Given the description of an element on the screen output the (x, y) to click on. 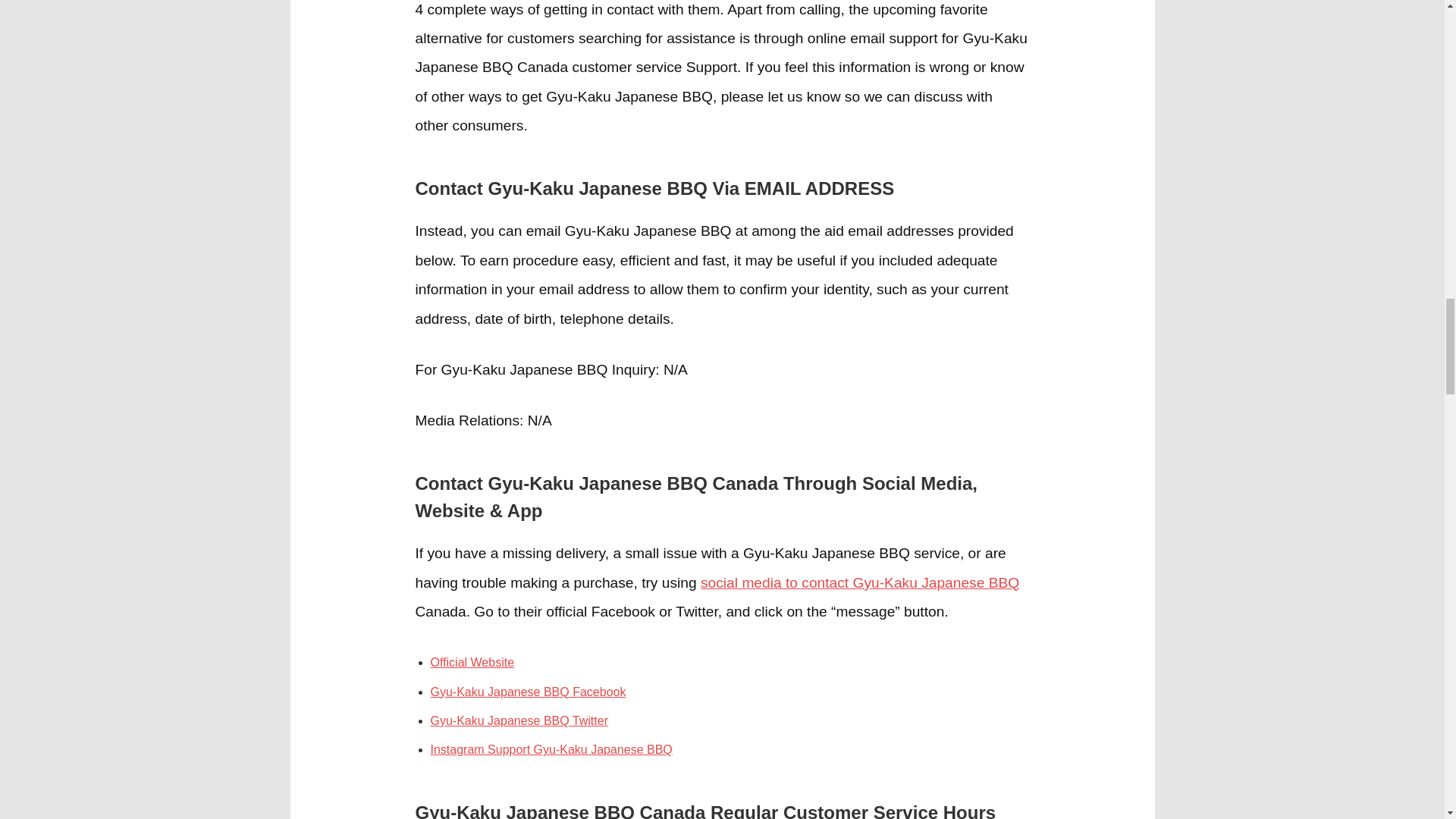
Instagram Support Gyu-Kaku Japanese BBQ (551, 748)
Gyu-Kaku Japanese BBQ Facebook (528, 691)
social media to contact Gyu-Kaku Japanese BBQ (859, 582)
Official Website (472, 662)
Gyu-Kaku Japanese BBQ Twitter (519, 720)
